Given the description of an element on the screen output the (x, y) to click on. 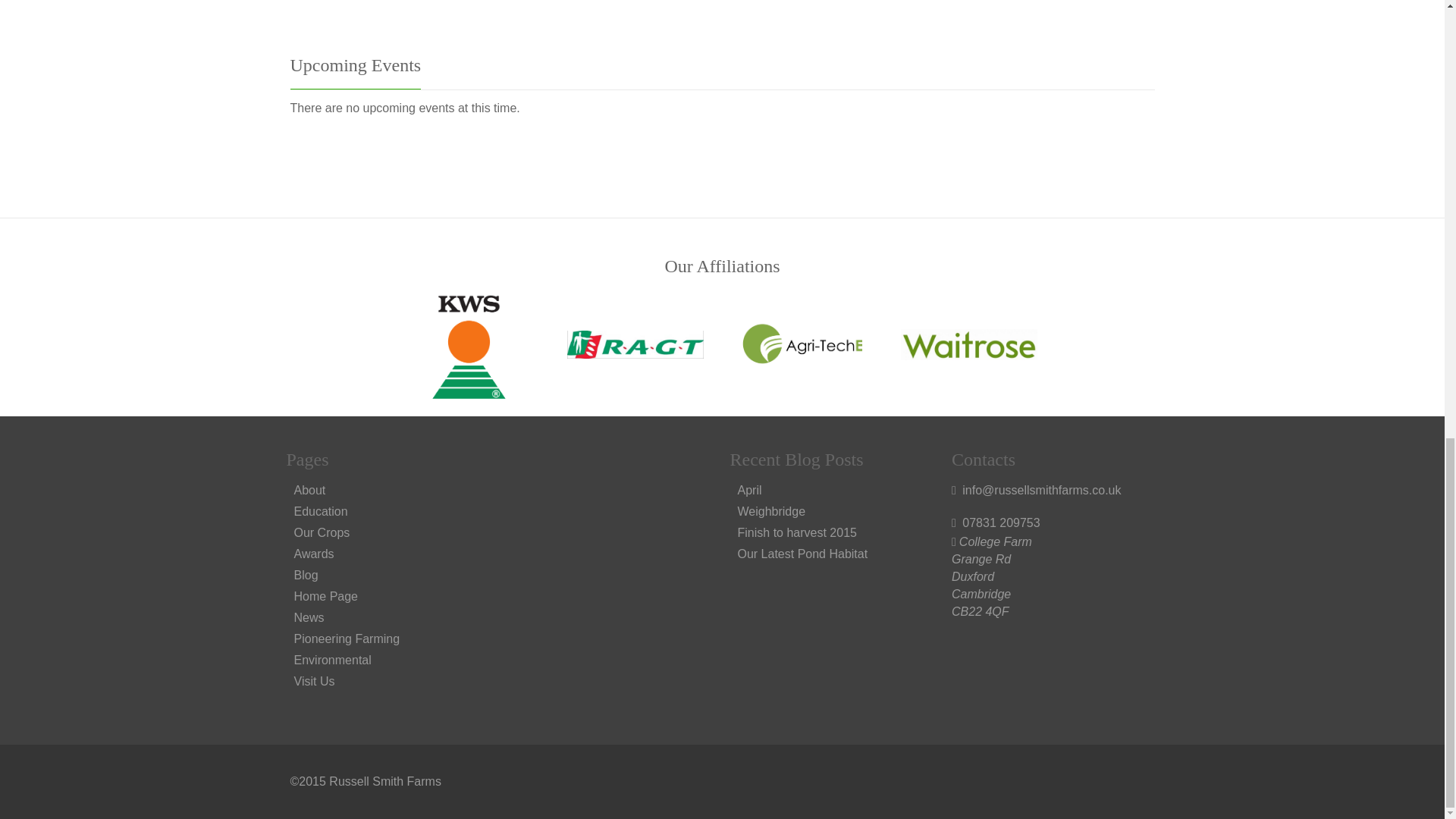
Agri-Tech East (801, 344)
Waitrose (969, 344)
RAGT (635, 344)
